Given the description of an element on the screen output the (x, y) to click on. 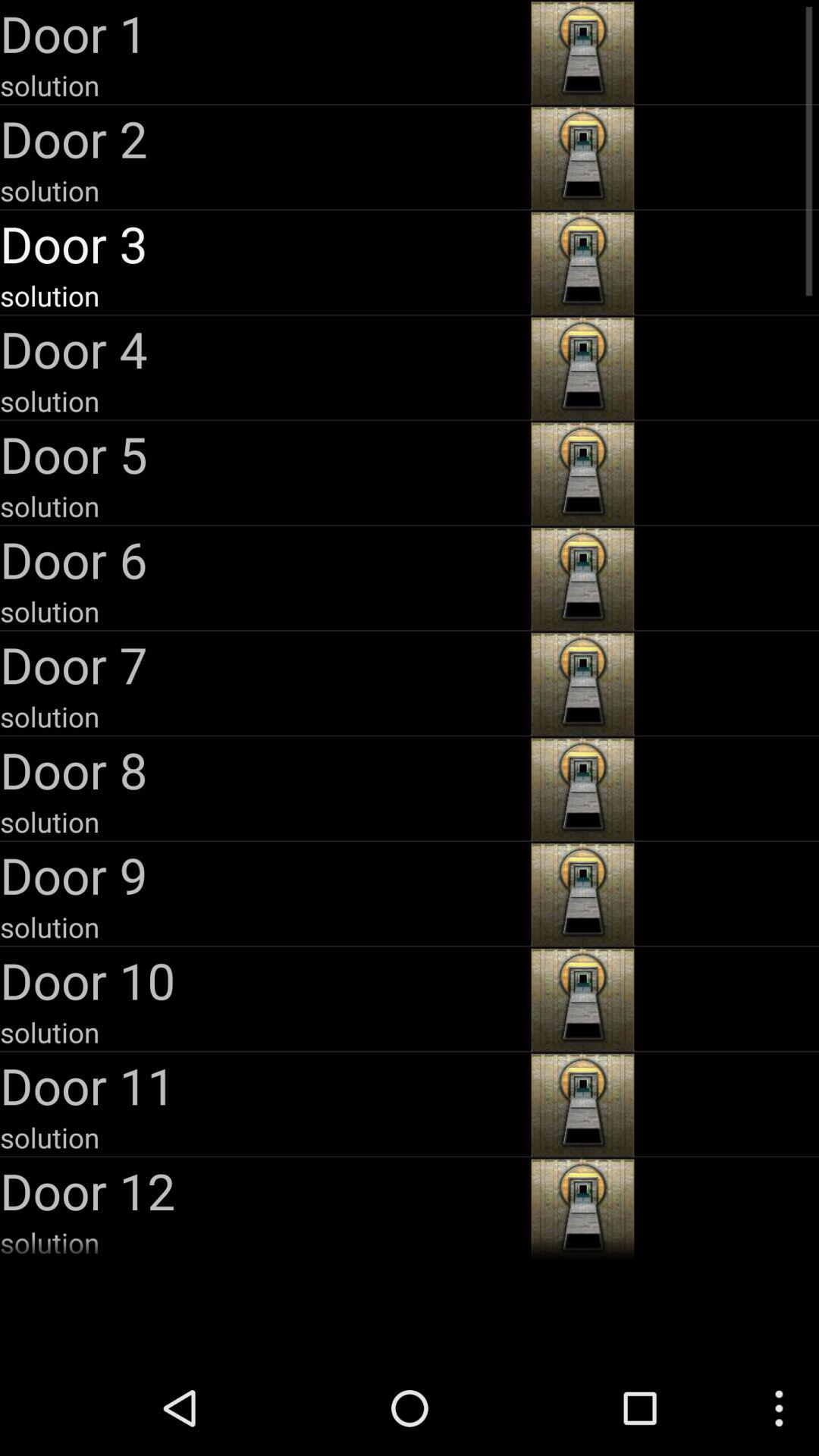
turn on the door 10 (263, 979)
